Given the description of an element on the screen output the (x, y) to click on. 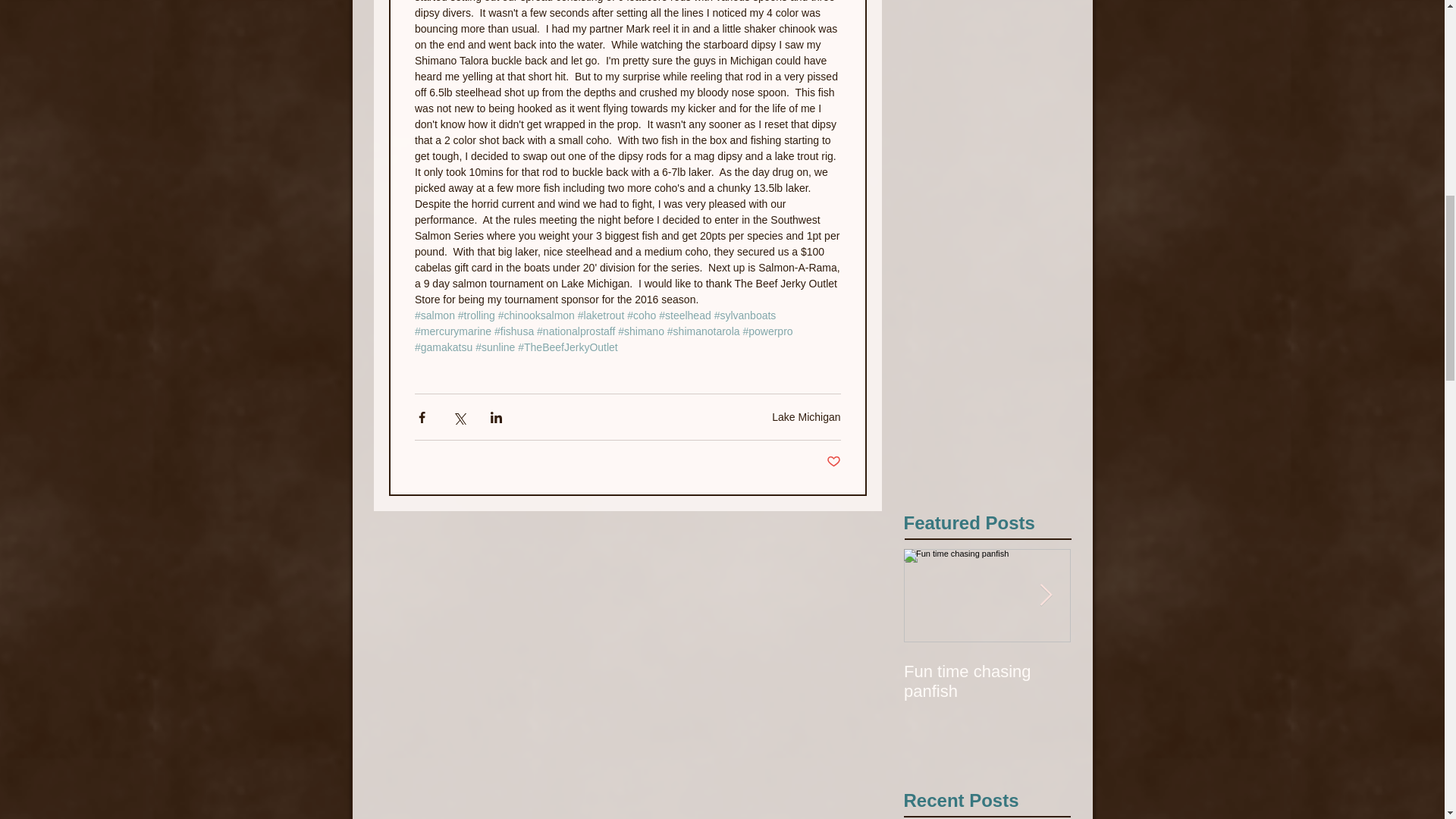
Lake Michigan (805, 417)
Cold temps have the trout chomping! (1153, 681)
Post not marked as liked (834, 462)
Fun time chasing panfish (987, 681)
